Given the description of an element on the screen output the (x, y) to click on. 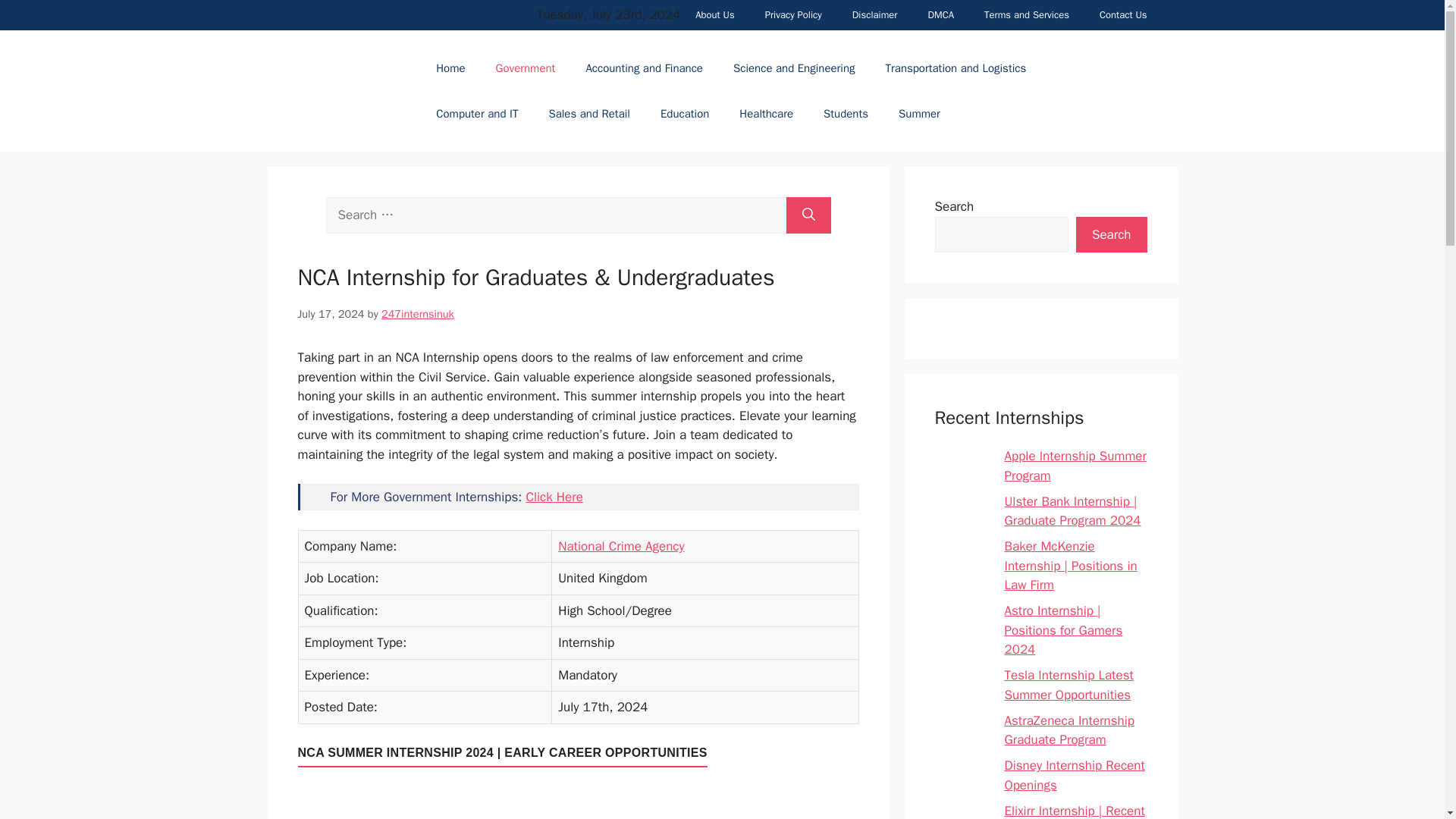
DMCA (940, 15)
Disclaimer (874, 15)
Government (525, 67)
Privacy Policy (793, 15)
Search (1111, 235)
Education Internships (684, 113)
Students (845, 113)
AstraZeneca Internship Graduate Program (1075, 730)
Computer and IT (476, 113)
Transportation and Logistics Internships (956, 67)
Healthcare (765, 113)
Home (450, 67)
About Us (714, 15)
Terms and Services (1026, 15)
247internsinuk (417, 313)
